Given the description of an element on the screen output the (x, y) to click on. 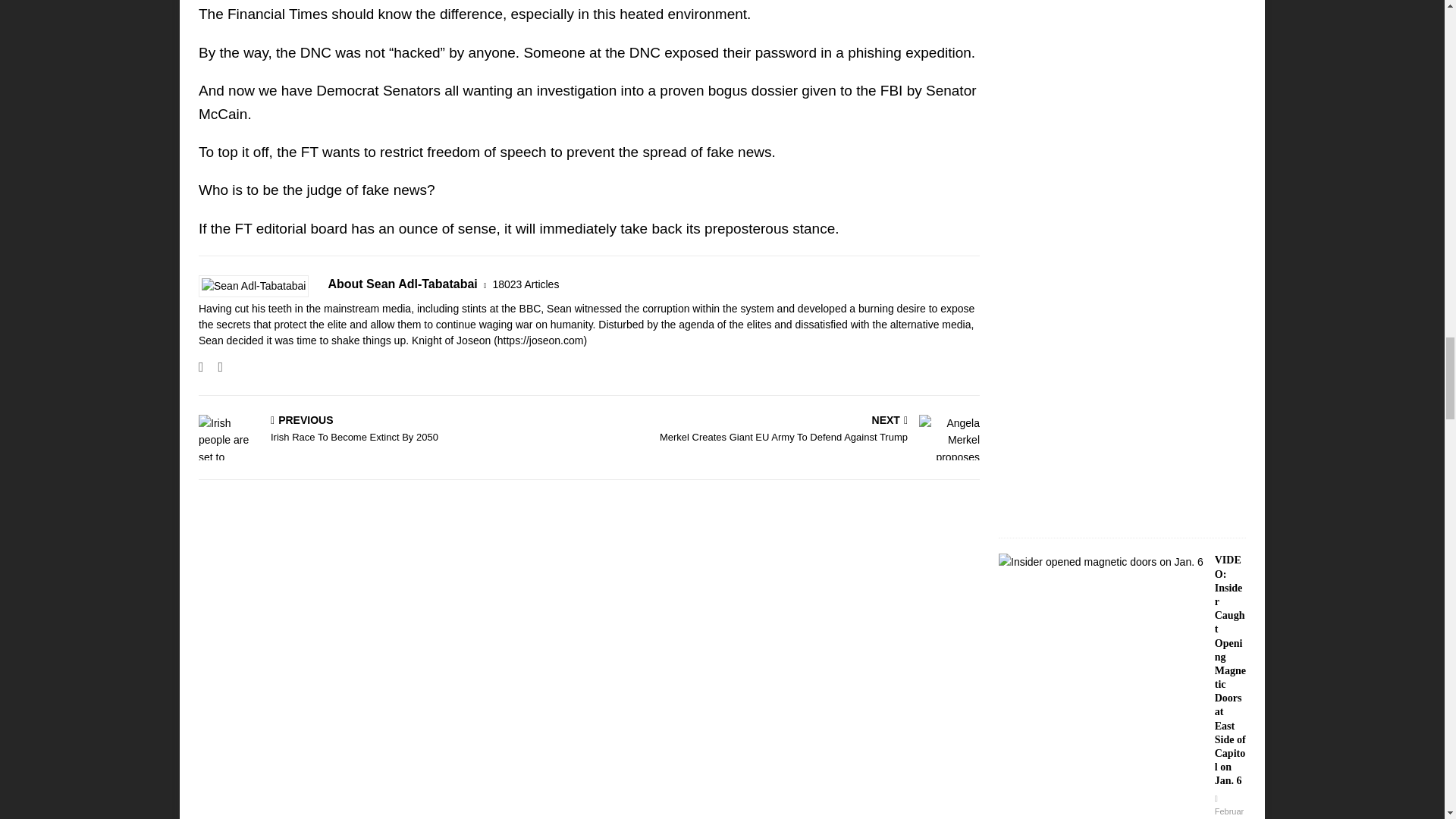
Follow Sean Adl-Tabatabai on Twitter (214, 366)
More articles written by Sean Adl-Tabatabai' (525, 284)
